Given the description of an element on the screen output the (x, y) to click on. 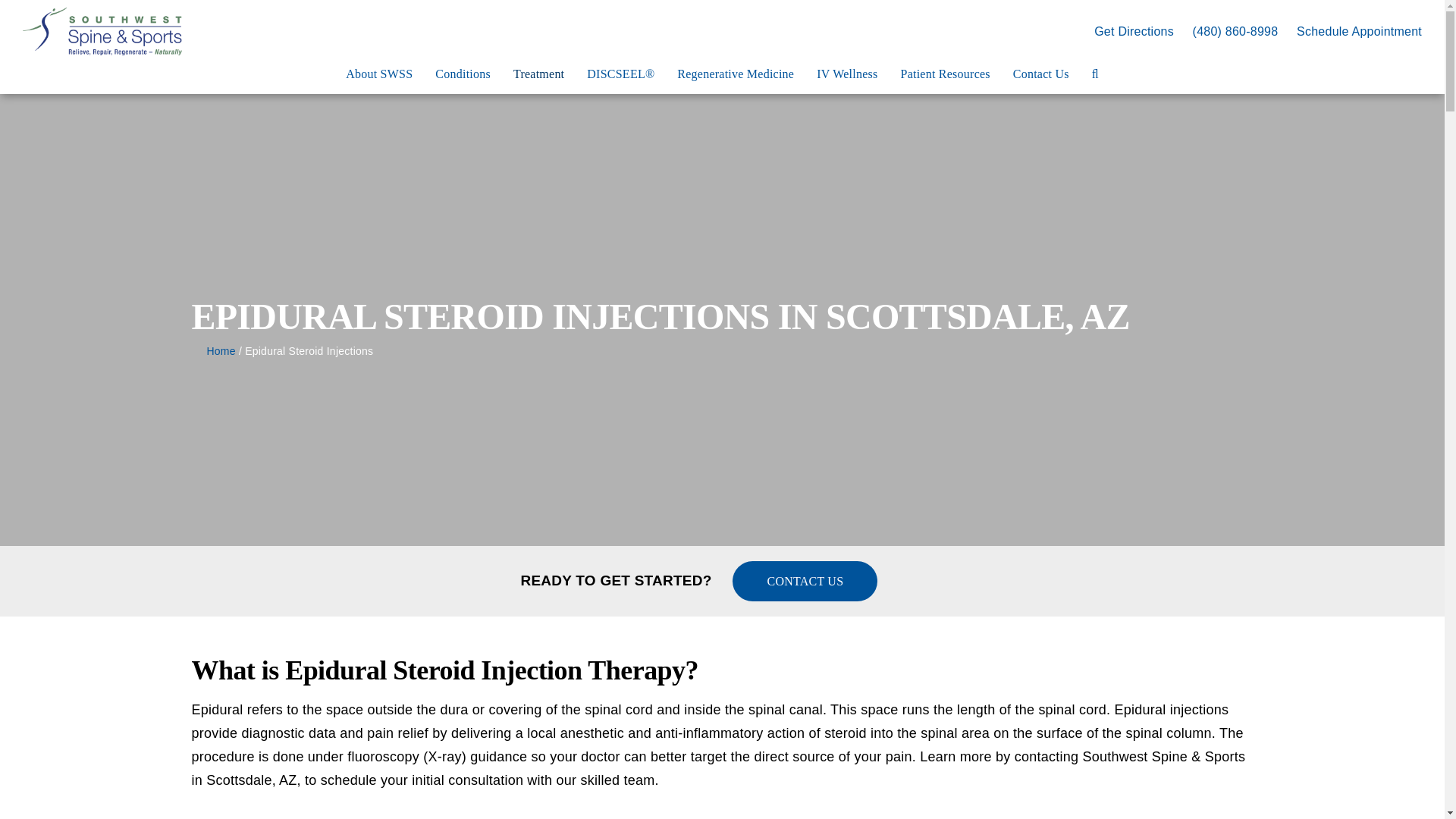
Conditions (462, 74)
Regenerative Medicine (735, 74)
Treatment (538, 74)
Schedule Appointment (1359, 31)
Search (1095, 74)
IV Wellness (846, 74)
About SWSS (379, 74)
Patient Resources (945, 74)
Get Directions (1133, 31)
